Given the description of an element on the screen output the (x, y) to click on. 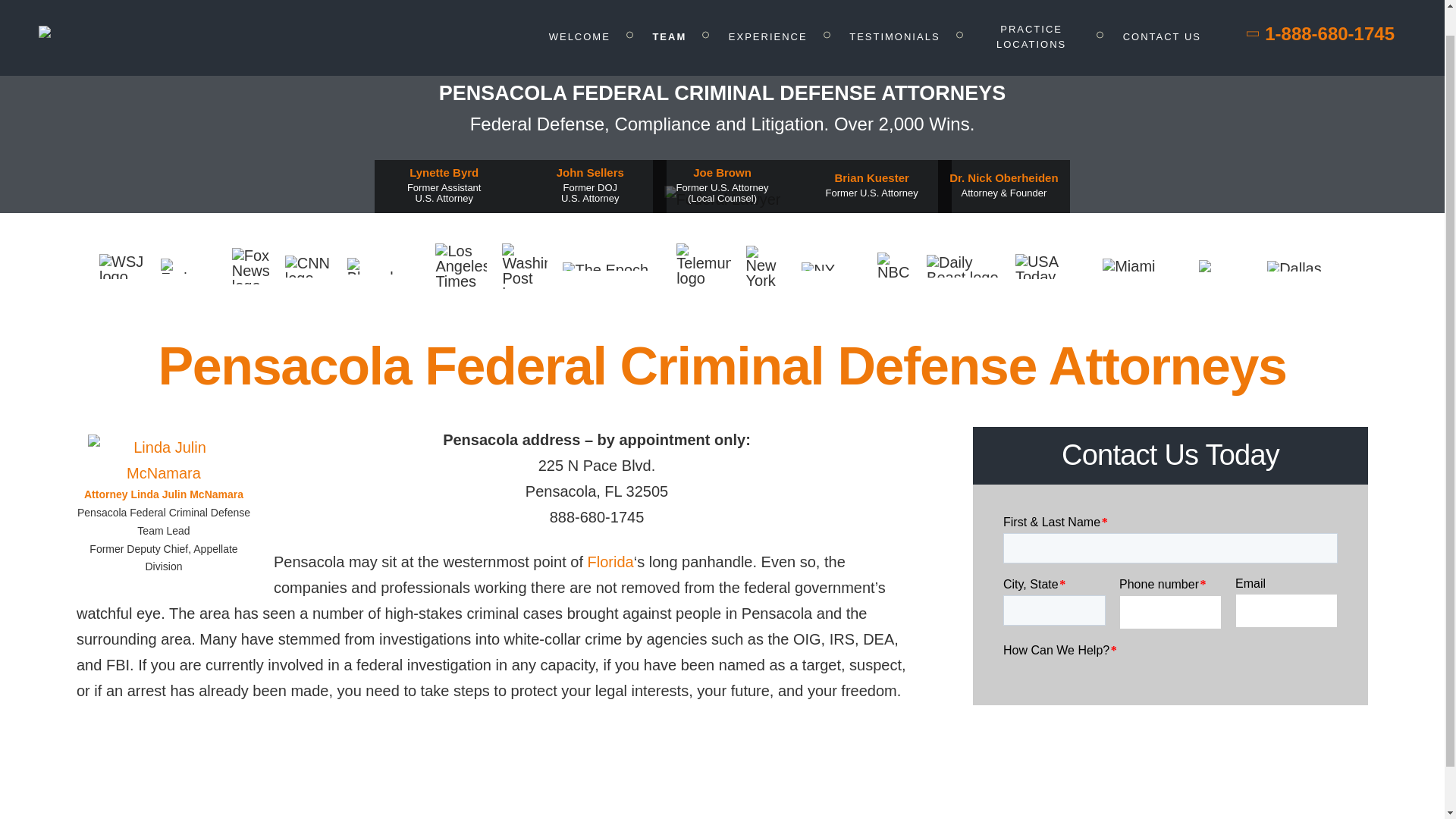
CONTACT US (1161, 9)
Attorney Linda Julin McNamara (163, 494)
EXPERIENCE (768, 9)
TEAM (668, 9)
1-888-680-1745 (1321, 10)
Florida (610, 561)
WELCOME (579, 9)
PRACTICE LOCATIONS (1030, 11)
TESTIMONIALS (893, 9)
